Given the description of an element on the screen output the (x, y) to click on. 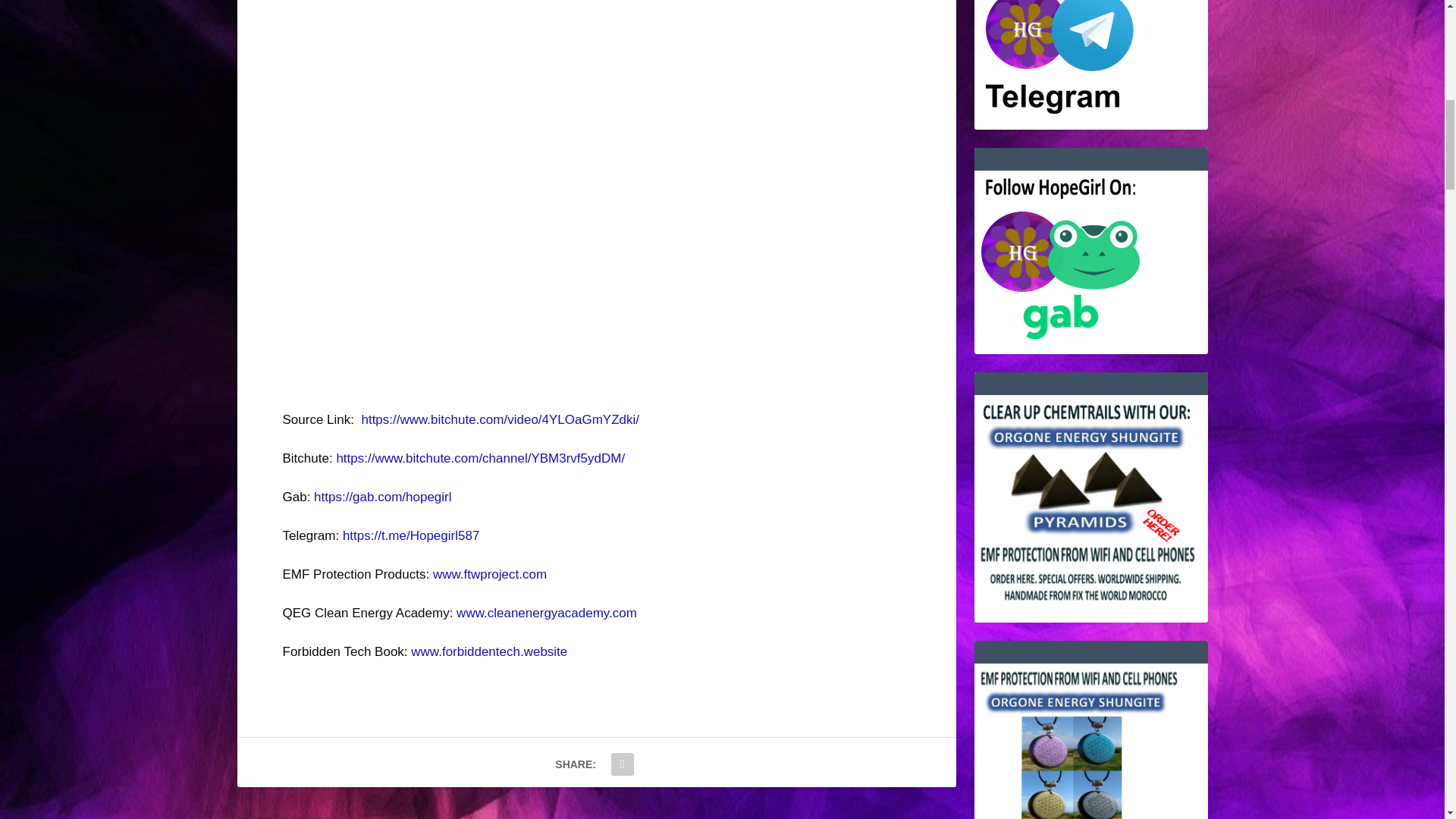
www.ftwproject.com (489, 574)
www.cleanenergyacademy.com (547, 612)
www.forbiddentech.website (488, 651)
